Given the description of an element on the screen output the (x, y) to click on. 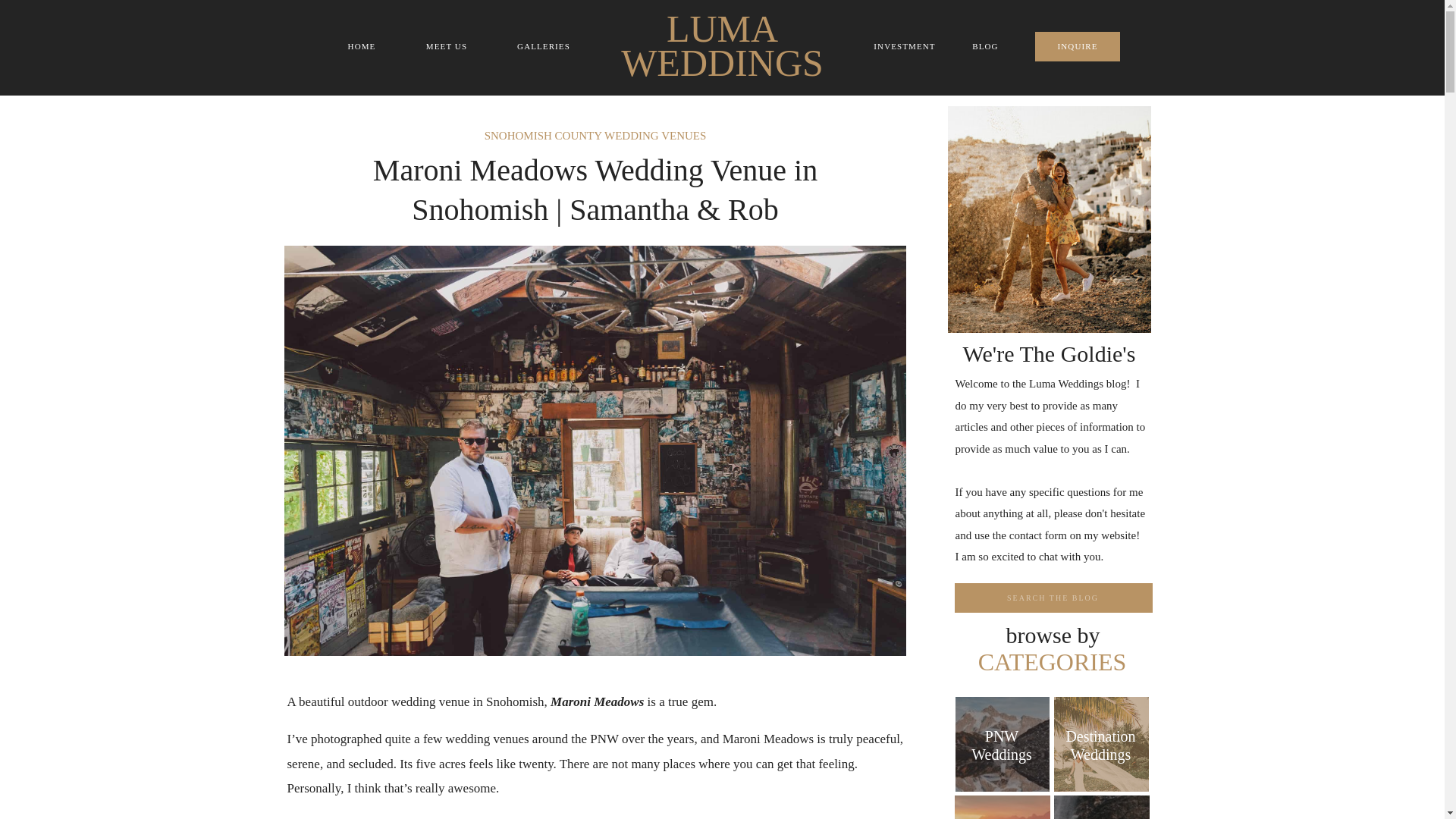
MEET US (445, 46)
INVESTMENT (903, 45)
INQUIRE (1077, 45)
HOME (361, 46)
Destination Weddings (1100, 747)
BLOG (984, 45)
GALLERIES (544, 46)
SNOHOMISH COUNTY WEDDING VENUES (595, 135)
PNW Weddings (1000, 747)
